Given the description of an element on the screen output the (x, y) to click on. 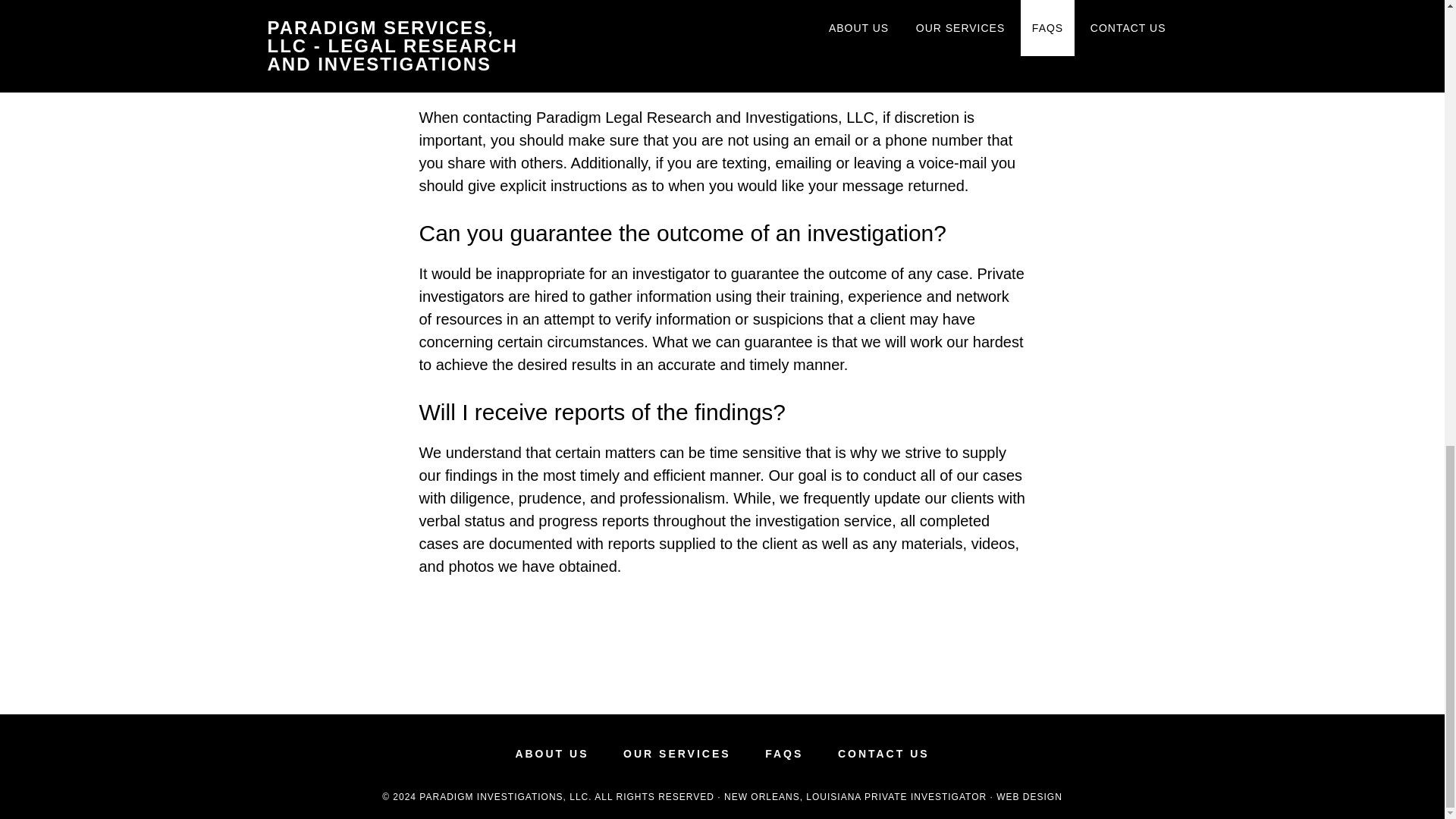
Click here to visit our contact page. (899, 71)
CONTACT US (884, 753)
OUR SERVICES (676, 753)
ABOUT US (551, 753)
WEB DESIGN (1028, 796)
FAQS (784, 753)
